Given the description of an element on the screen output the (x, y) to click on. 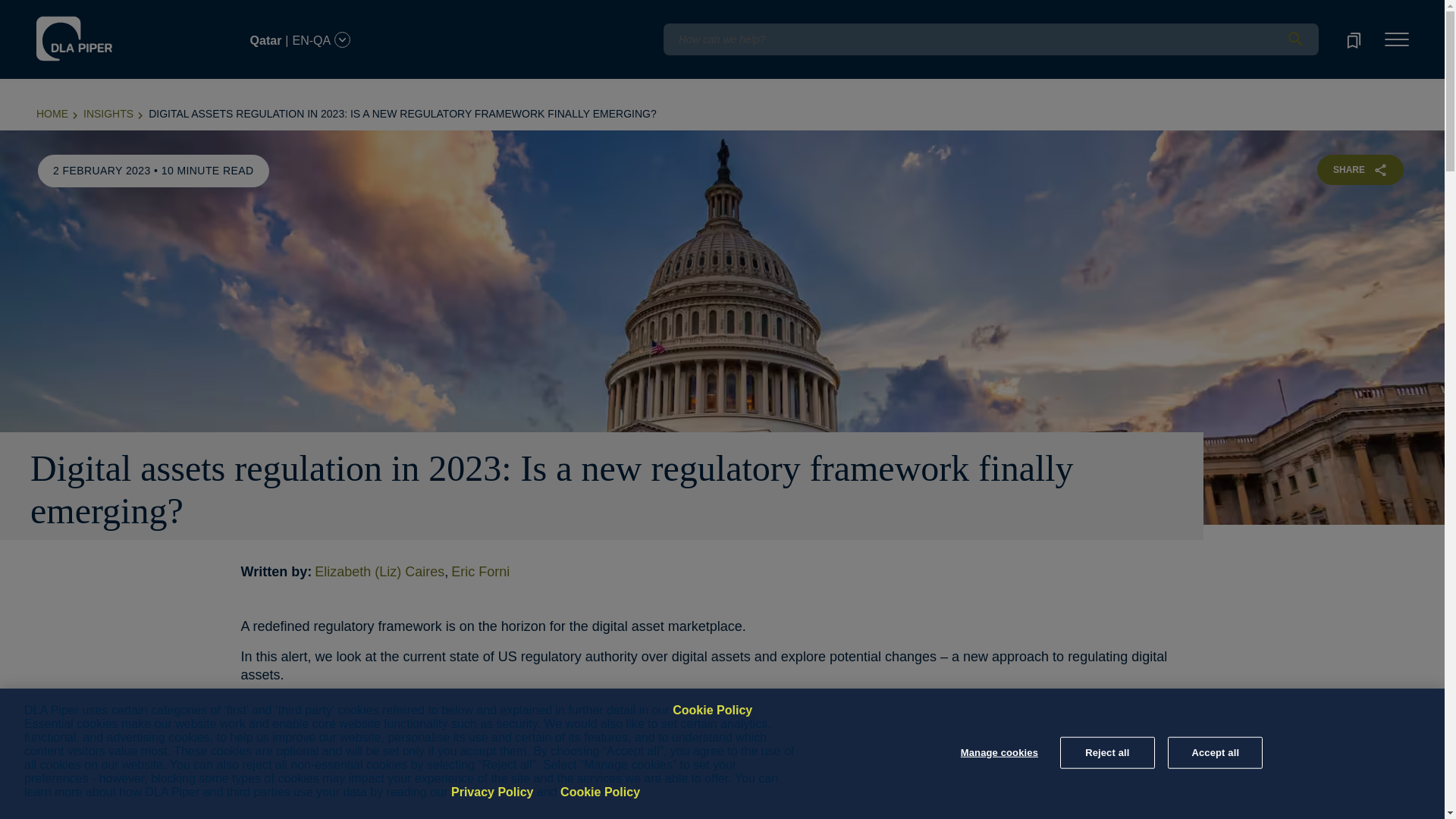
English (116, 31)
English (115, 11)
Insert a query. Press enter to send (990, 39)
Deutsch (157, 11)
